Given the description of an element on the screen output the (x, y) to click on. 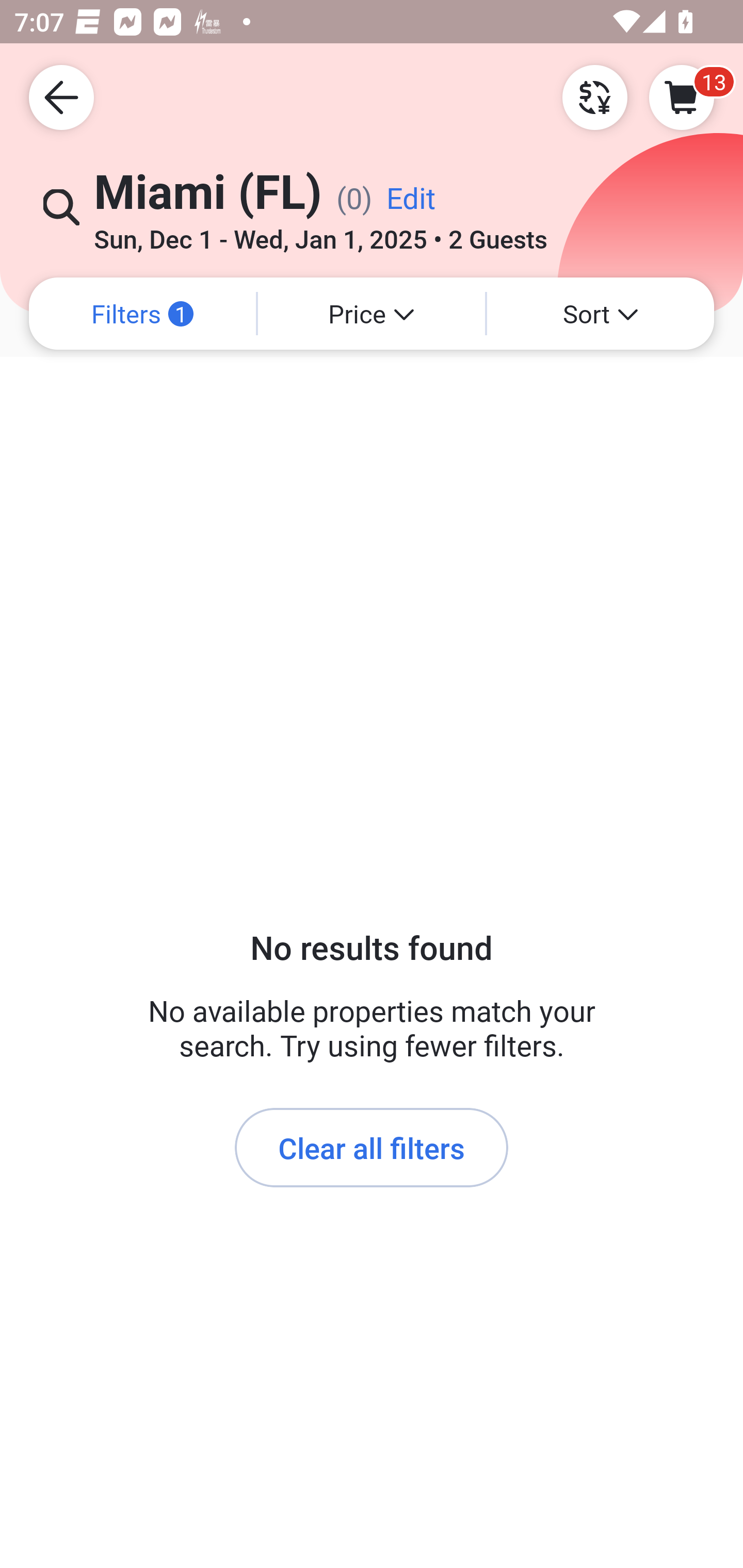
Filters 1 (141, 313)
Price (371, 313)
Sort (600, 313)
Clear all filters (371, 1147)
